Given the description of an element on the screen output the (x, y) to click on. 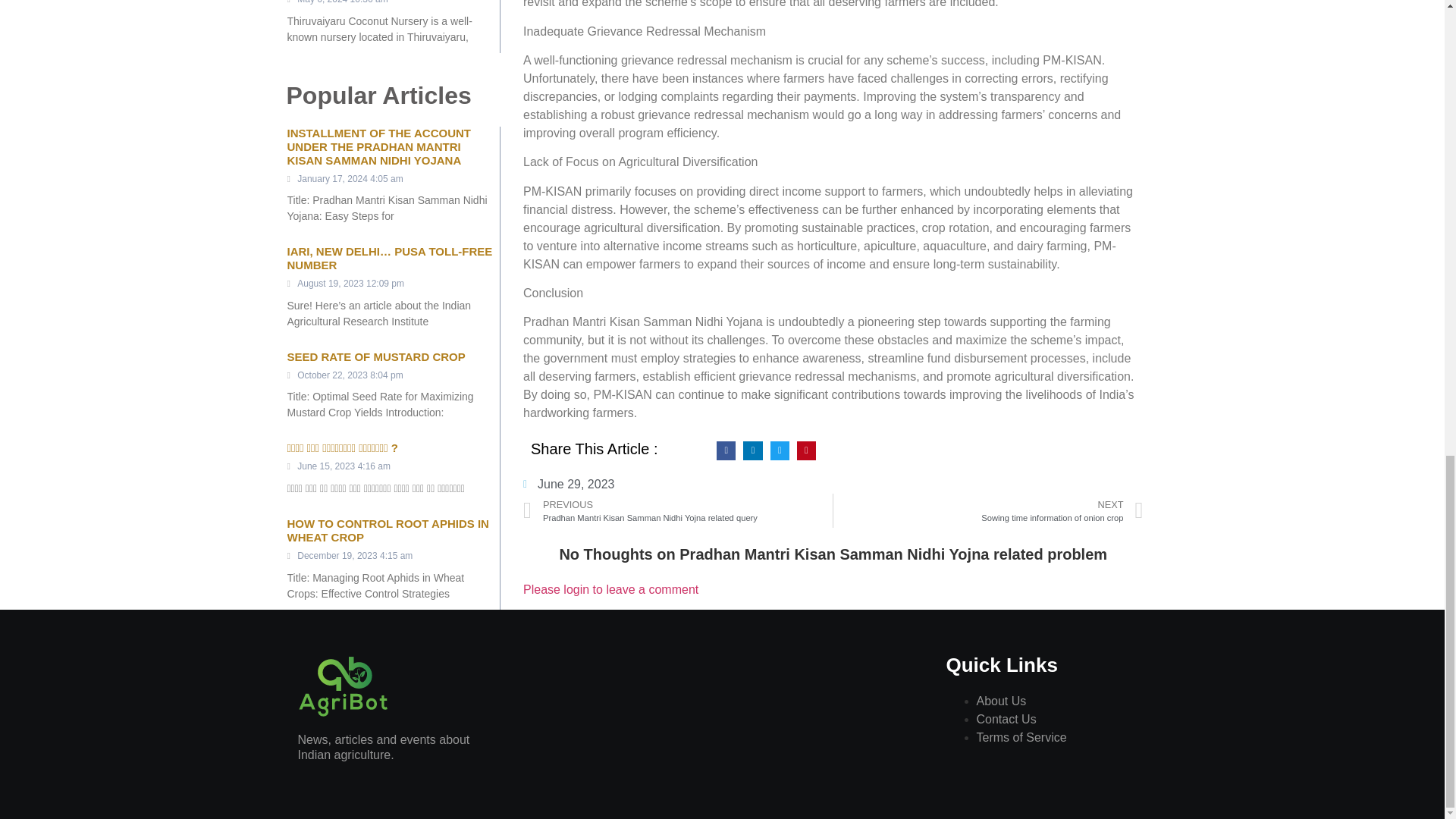
SEED RATE OF MUSTARD CROP (375, 356)
Terms of Service (1021, 737)
HOW TO CONTROL ROOT APHIDS IN WHEAT CROP (386, 529)
Contact Us (1006, 718)
June 29, 2023 (568, 484)
About Us (1001, 700)
Please login to leave a comment (987, 510)
